Given the description of an element on the screen output the (x, y) to click on. 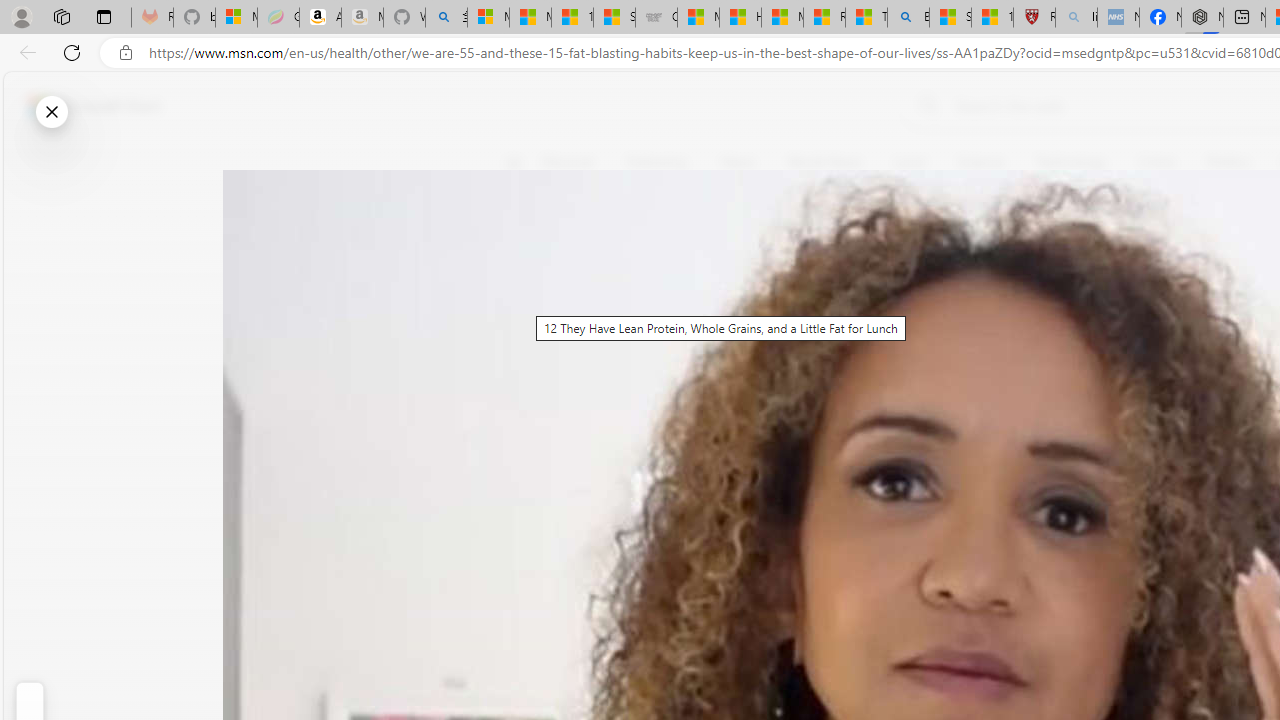
Bing (908, 17)
Follow (909, 258)
Class: at-item (525, 468)
Class: button-glyph (513, 162)
How I Got Rid of Microsoft Edge's Unnecessary Features (740, 17)
